Given the description of an element on the screen output the (x, y) to click on. 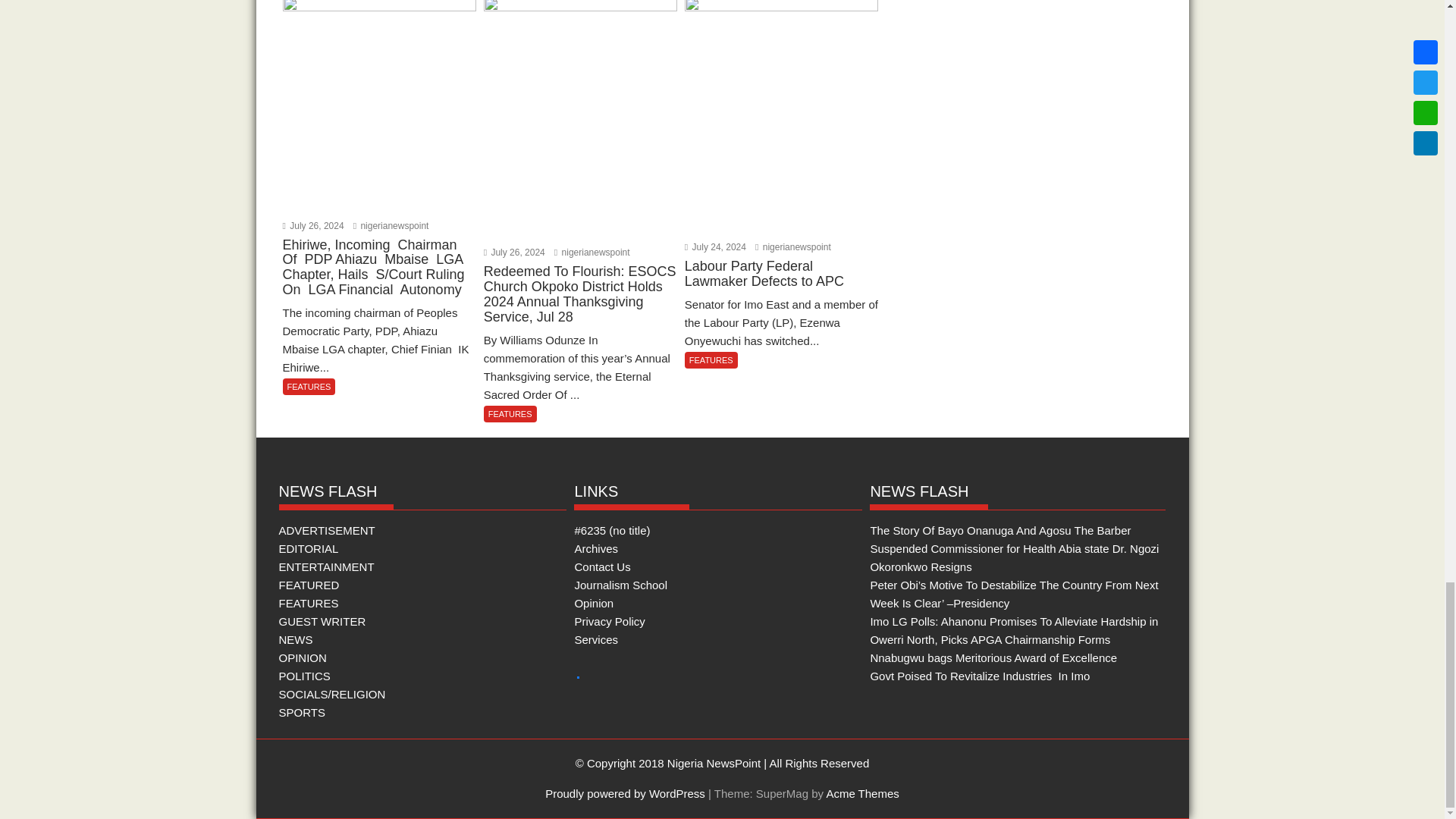
nigerianewspoint (391, 225)
nigerianewspoint (793, 246)
nigerianewspoint (592, 252)
